Given the description of an element on the screen output the (x, y) to click on. 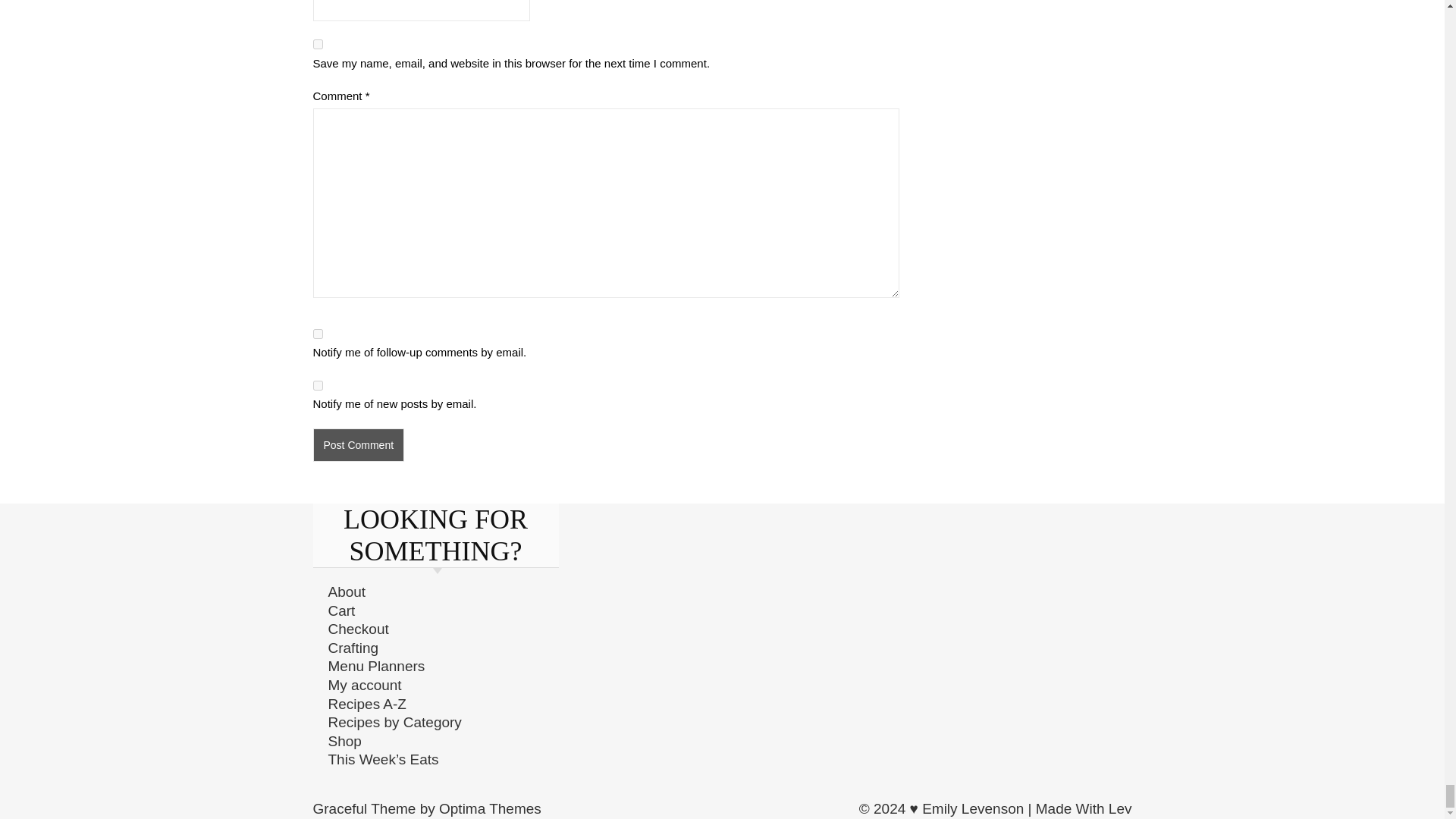
subscribe (317, 334)
Post Comment (358, 444)
yes (317, 44)
subscribe (317, 385)
